Given the description of an element on the screen output the (x, y) to click on. 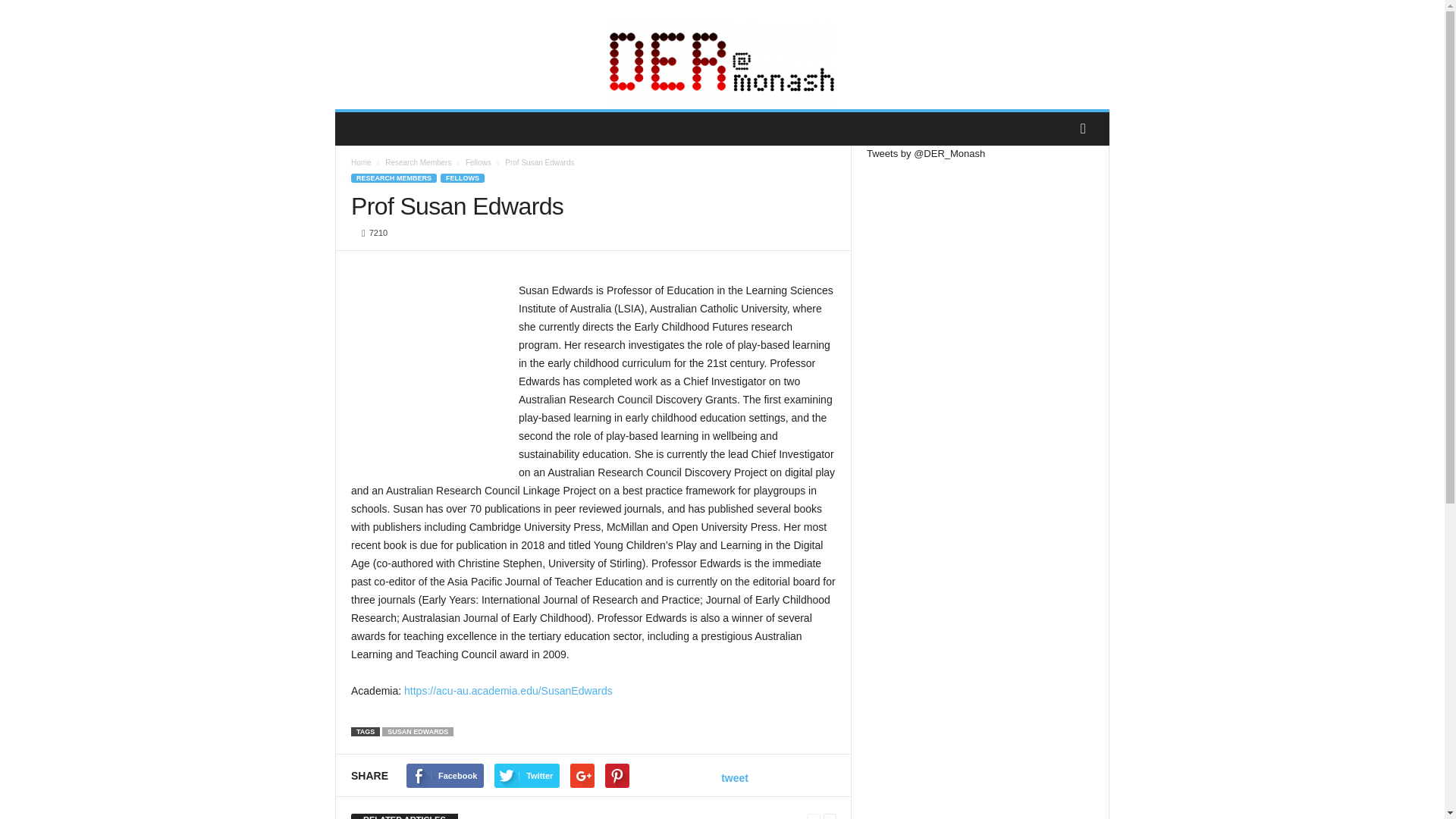
View all posts in Fellows (478, 162)
Fellows (478, 162)
Research Members (418, 162)
Home (360, 162)
View all posts in Research Members (418, 162)
